Given the description of an element on the screen output the (x, y) to click on. 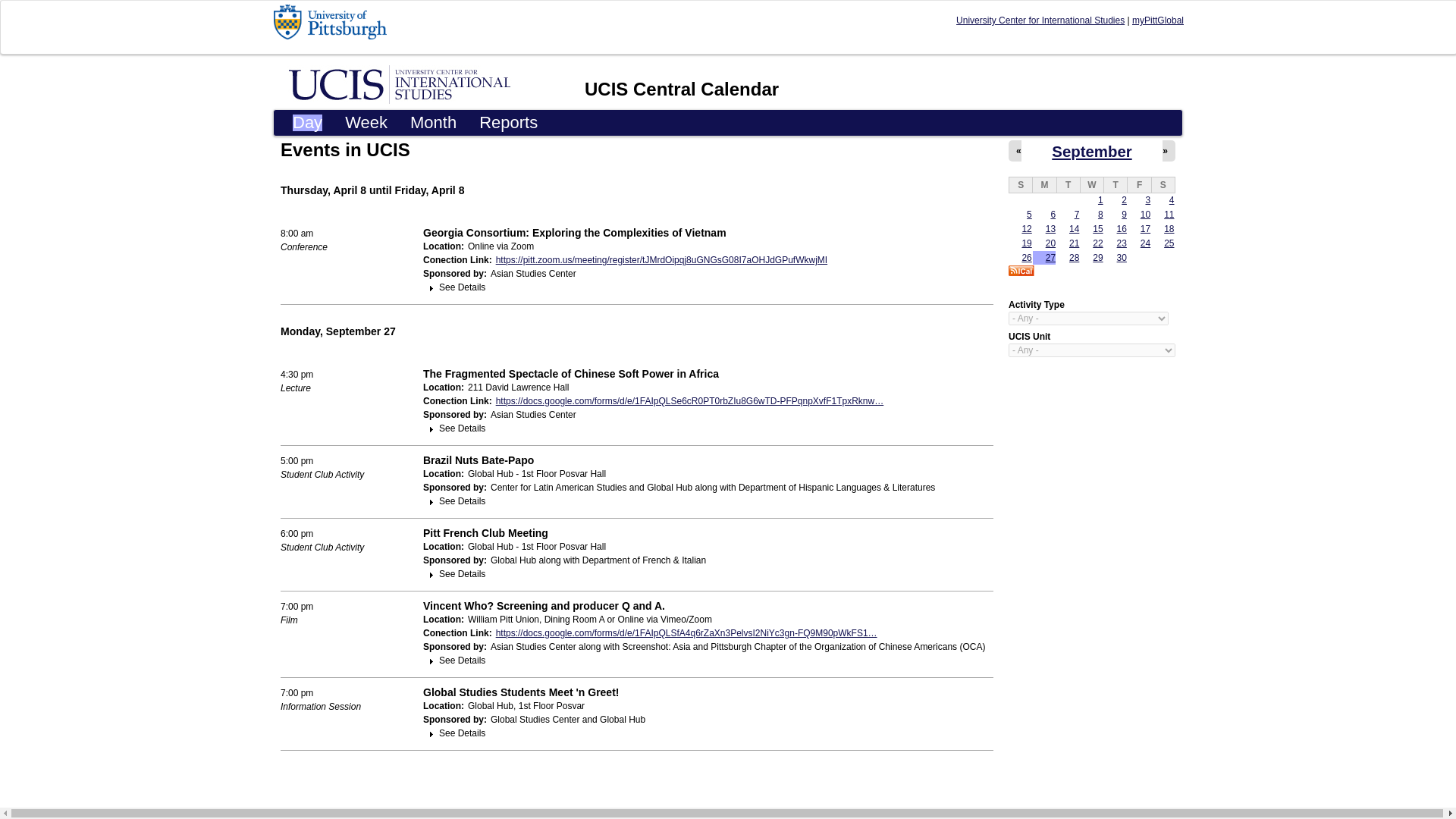
11 (1168, 214)
17 (1145, 228)
20 (1050, 243)
Home (681, 88)
15 (1097, 228)
Week (366, 122)
University Center for International Studies (1040, 20)
19 (1026, 243)
10 (1145, 214)
16 (1121, 228)
18 (1168, 228)
12 (1026, 228)
View full page month (1091, 151)
Add to My Calendar (1021, 270)
